Given the description of an element on the screen output the (x, y) to click on. 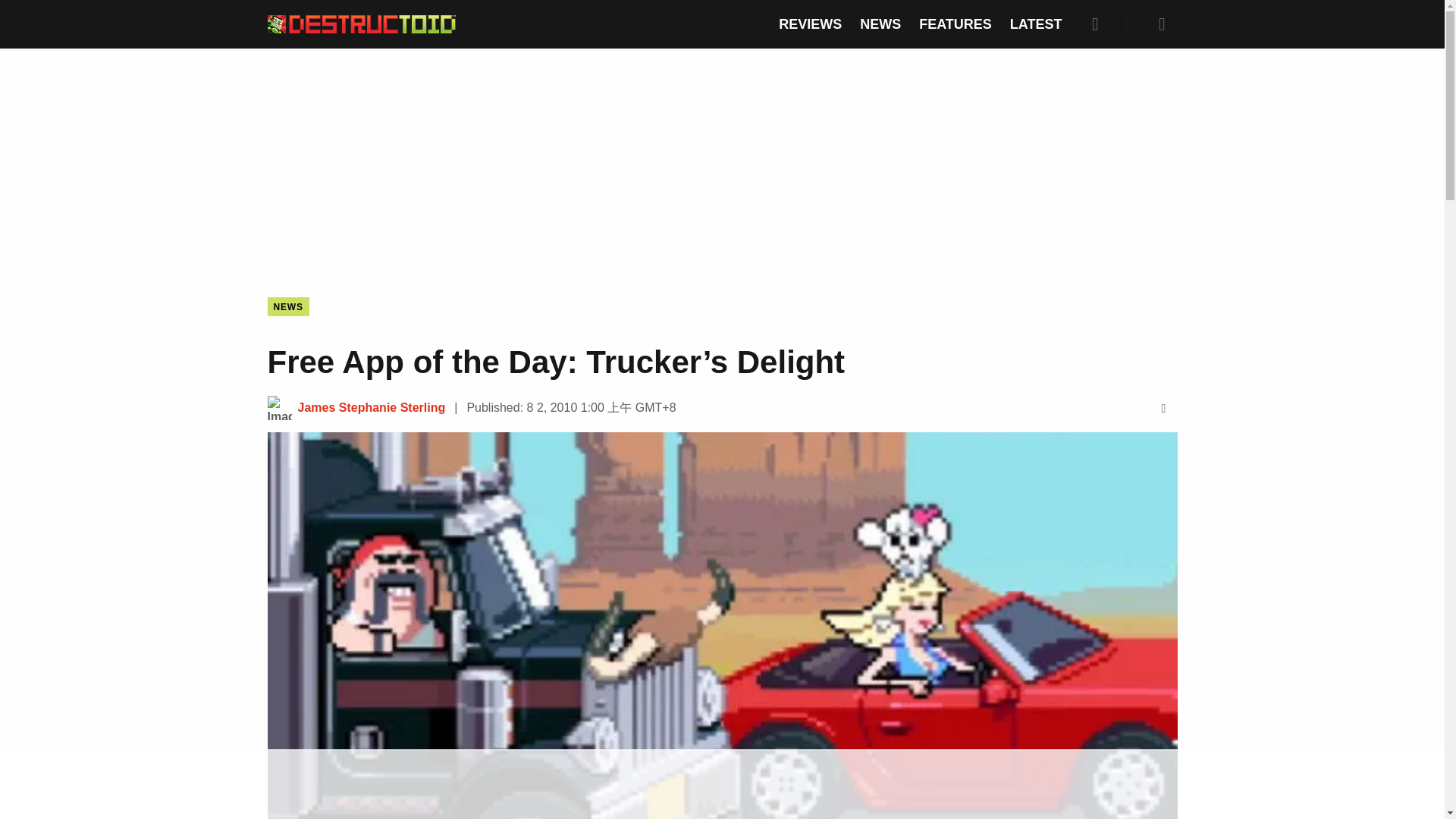
Search (1094, 24)
Expand Menu (1161, 24)
Dark Mode (1127, 24)
REVIEWS (809, 23)
NEWS (287, 306)
FEATURES (954, 23)
3rd party ad content (721, 785)
NEWS (880, 23)
LATEST (1036, 23)
3rd party ad content (721, 160)
